Given the description of an element on the screen output the (x, y) to click on. 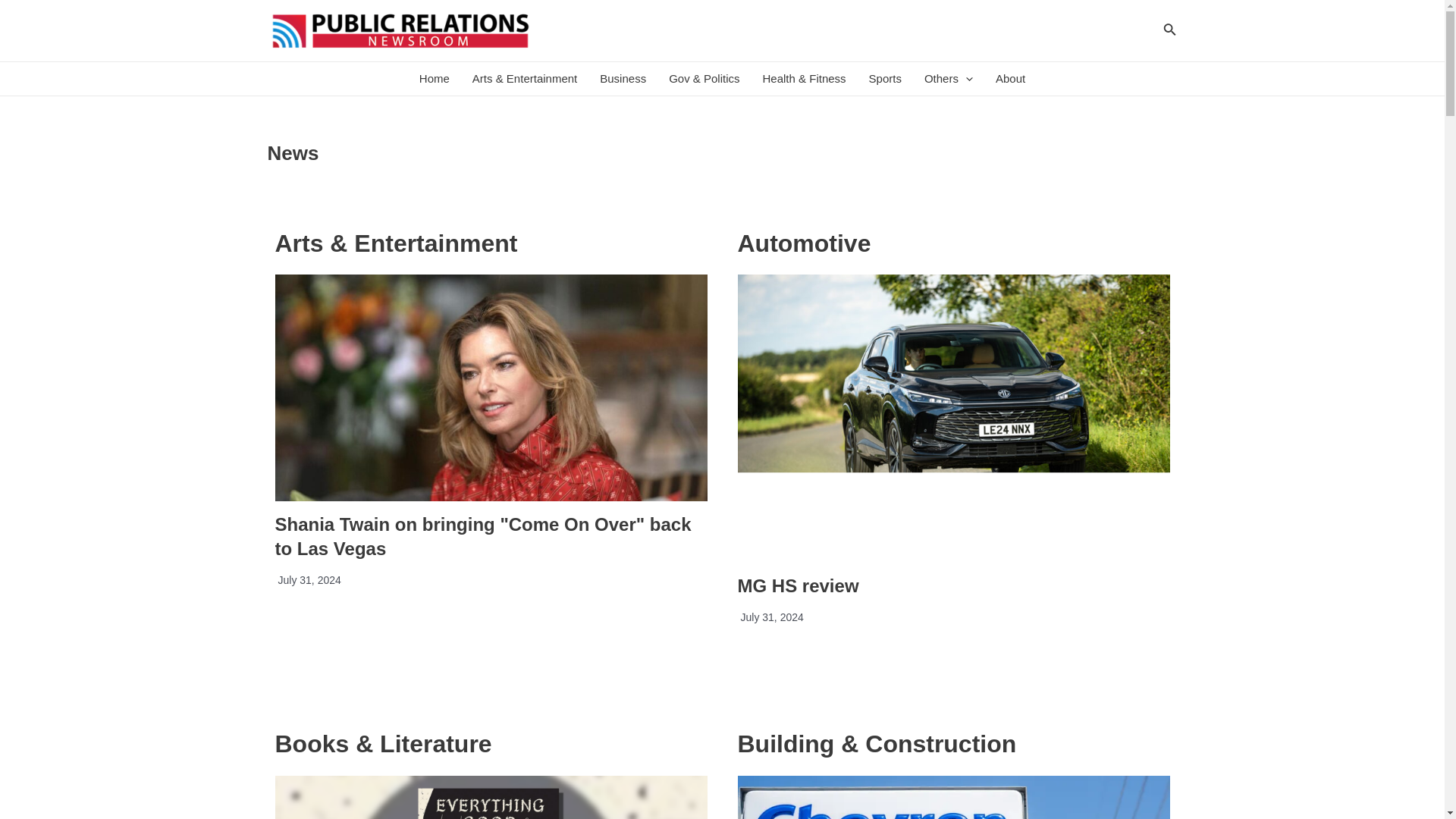
Business (623, 78)
Sports (884, 78)
Others (948, 78)
About (1010, 78)
Home (434, 78)
